Given the description of an element on the screen output the (x, y) to click on. 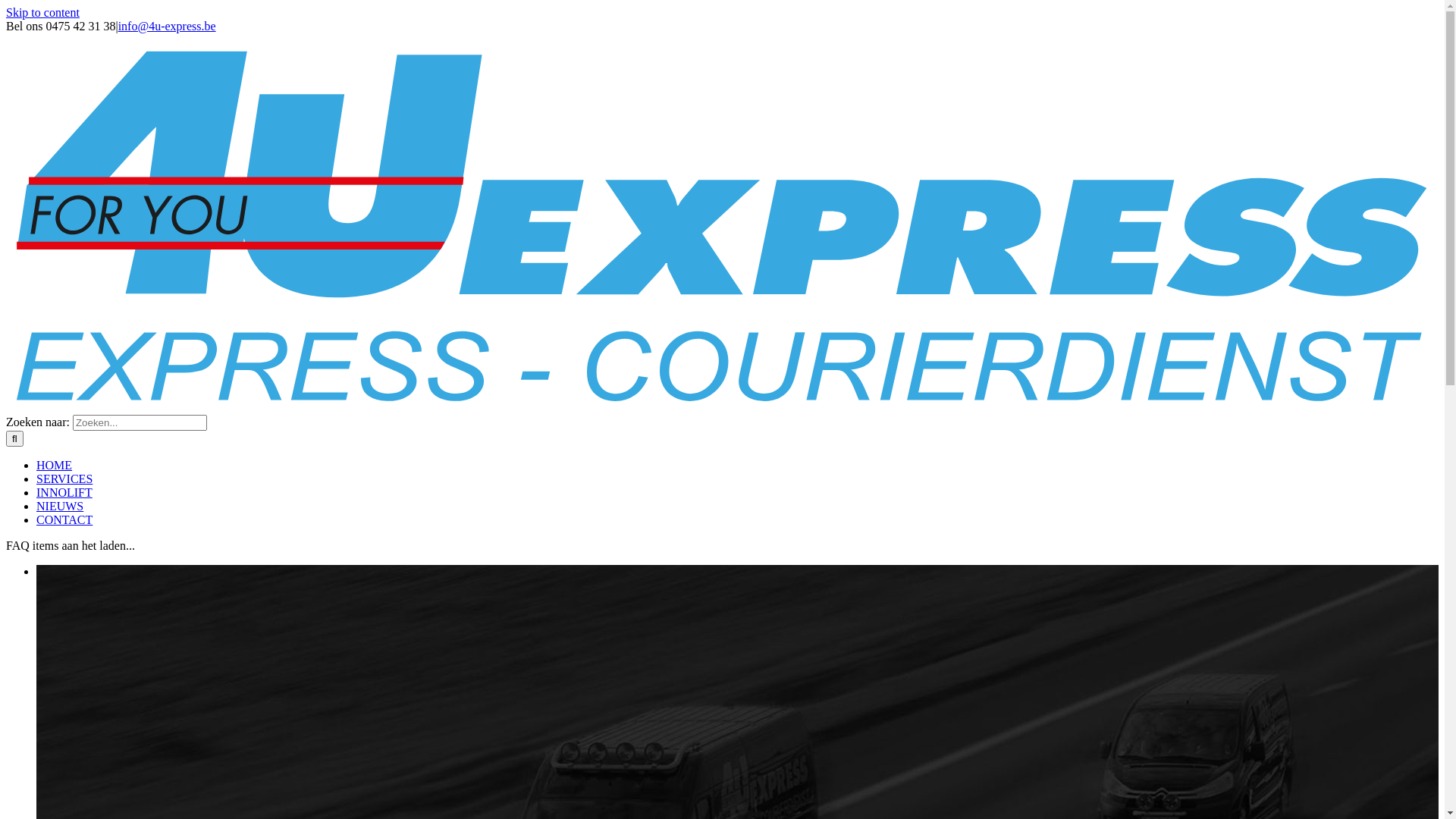
INNOLIFT Element type: text (64, 492)
CONTACT Element type: text (64, 519)
SERVICES Element type: text (64, 478)
NIEUWS Element type: text (59, 505)
info@4u-express.be Element type: text (167, 25)
Skip to content Element type: text (42, 12)
HOME Element type: text (54, 464)
